Given the description of an element on the screen output the (x, y) to click on. 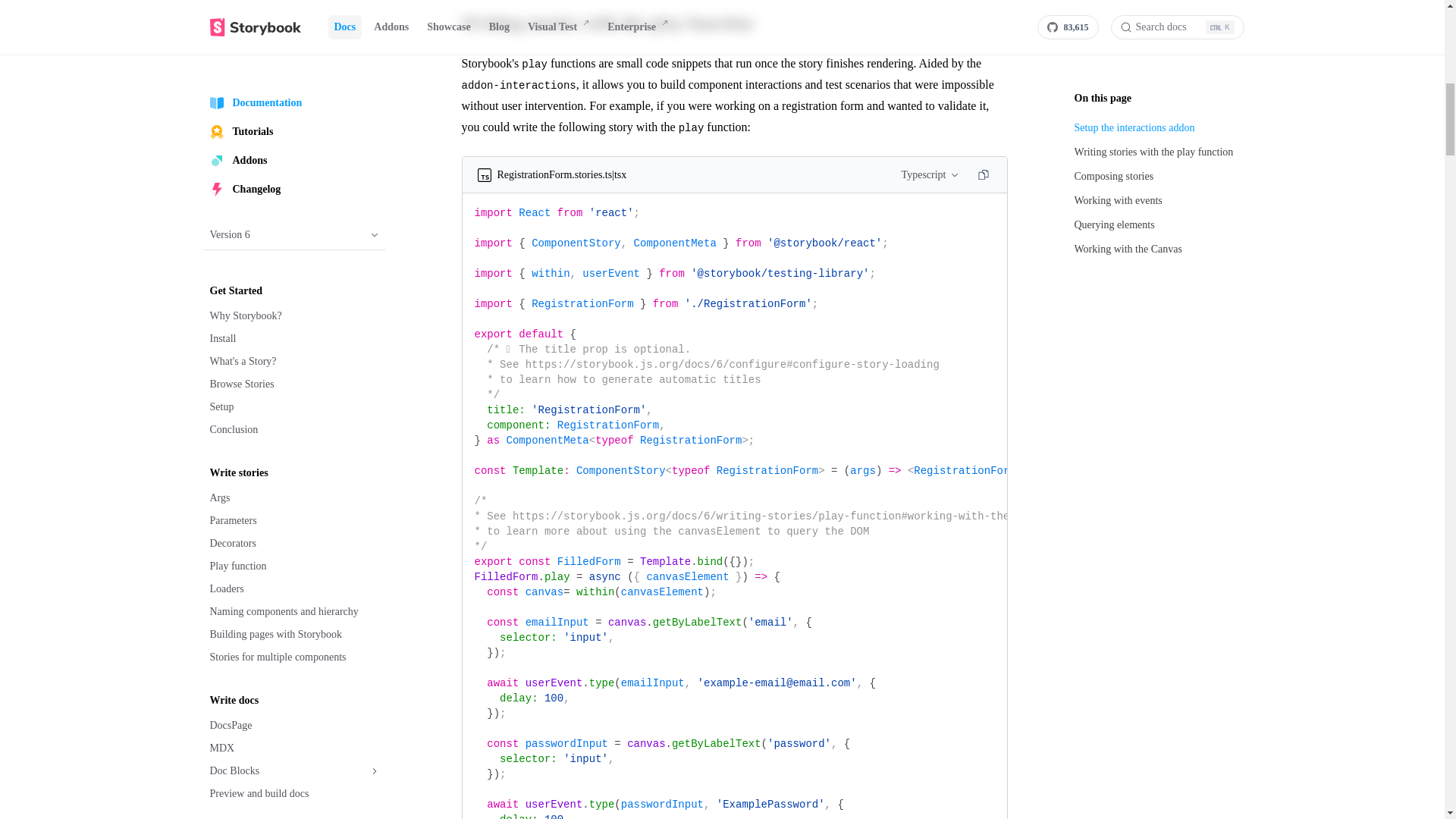
Writing stories with the play function (734, 22)
Visual tests (294, 66)
Testing (294, 18)
Accessibility tests (294, 88)
Test runner (294, 43)
